Given the description of an element on the screen output the (x, y) to click on. 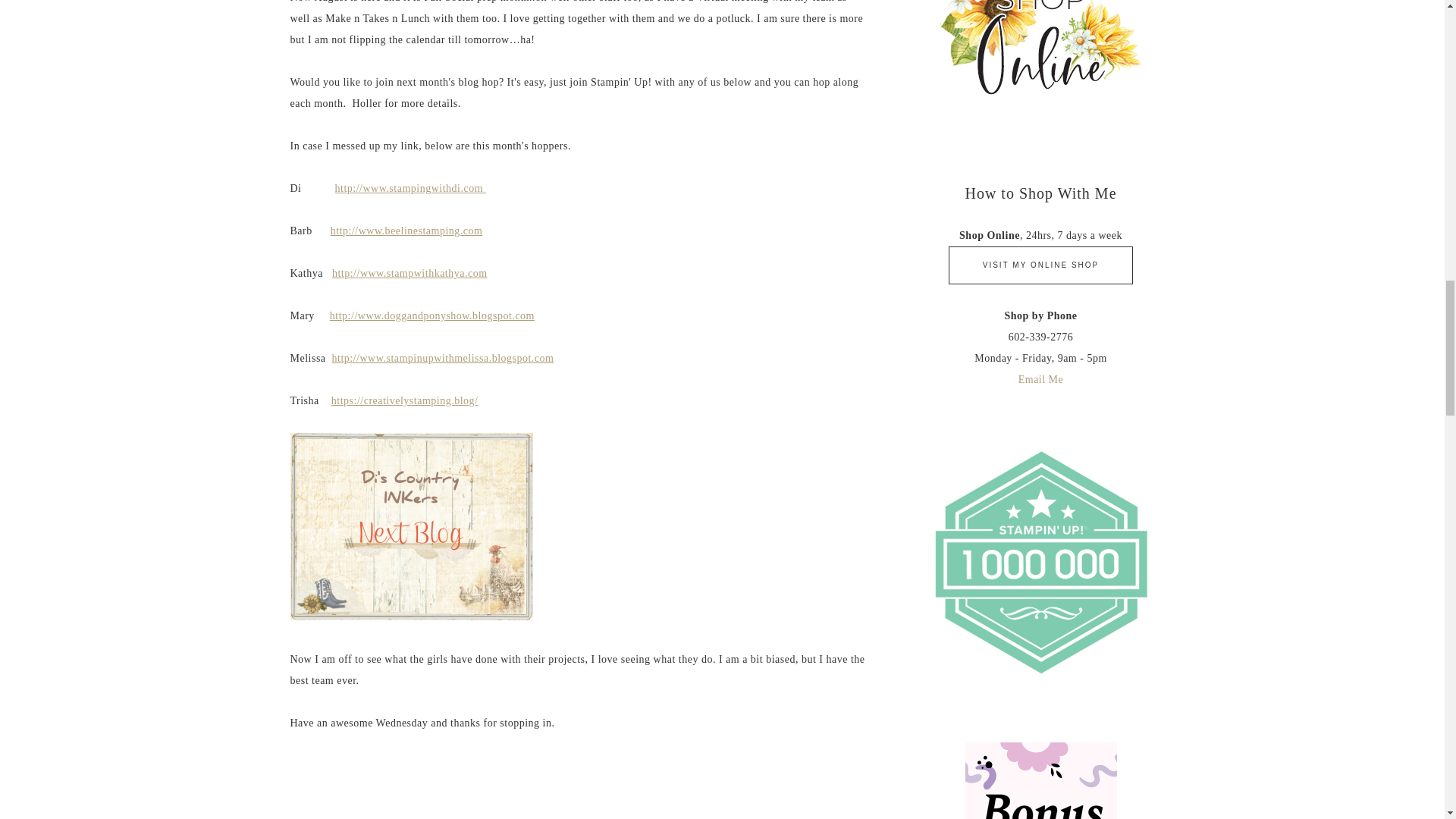
Blog hop button next (410, 526)
